Given the description of an element on the screen output the (x, y) to click on. 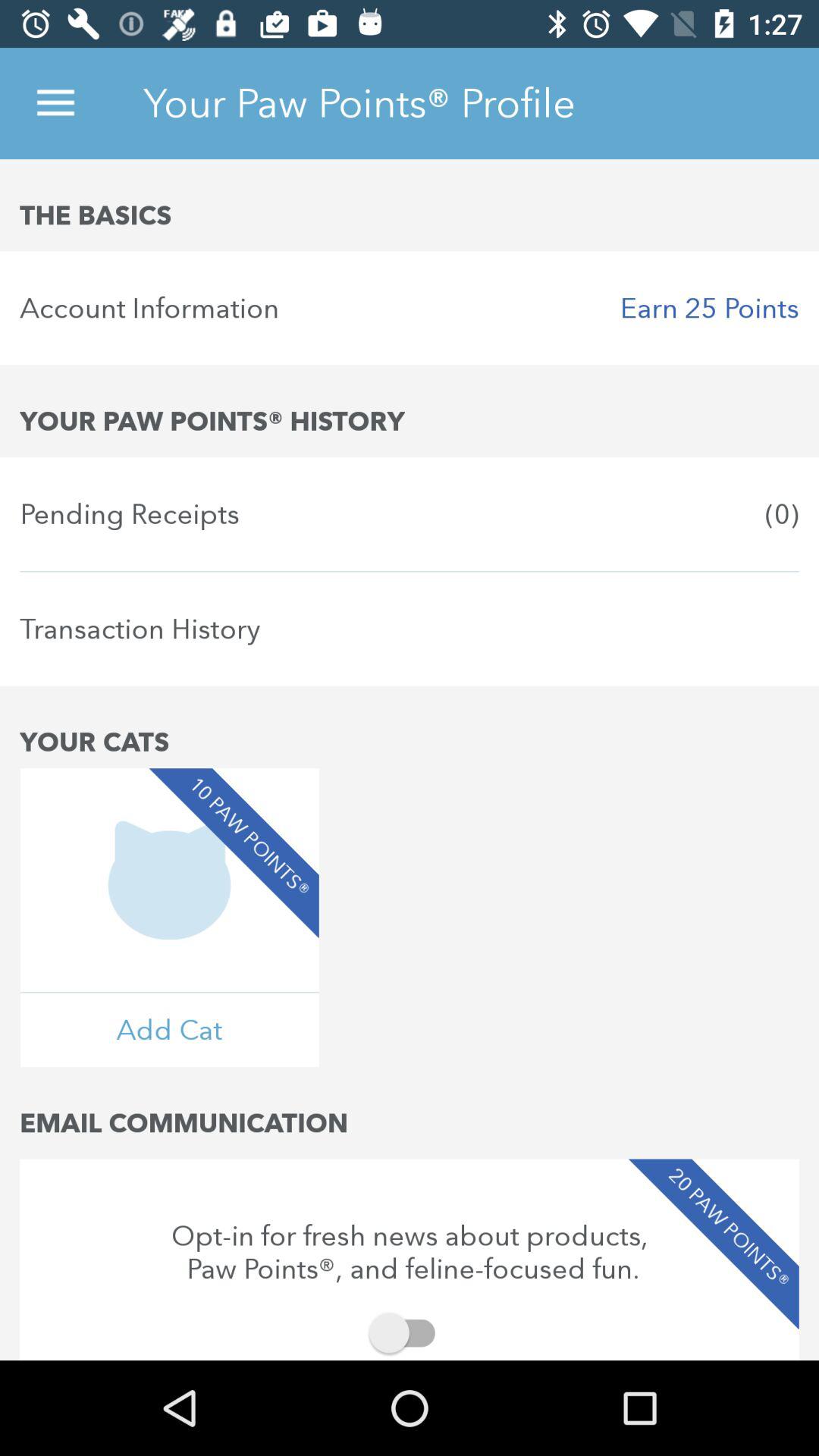
click the item next to the your paw points icon (55, 103)
